Given the description of an element on the screen output the (x, y) to click on. 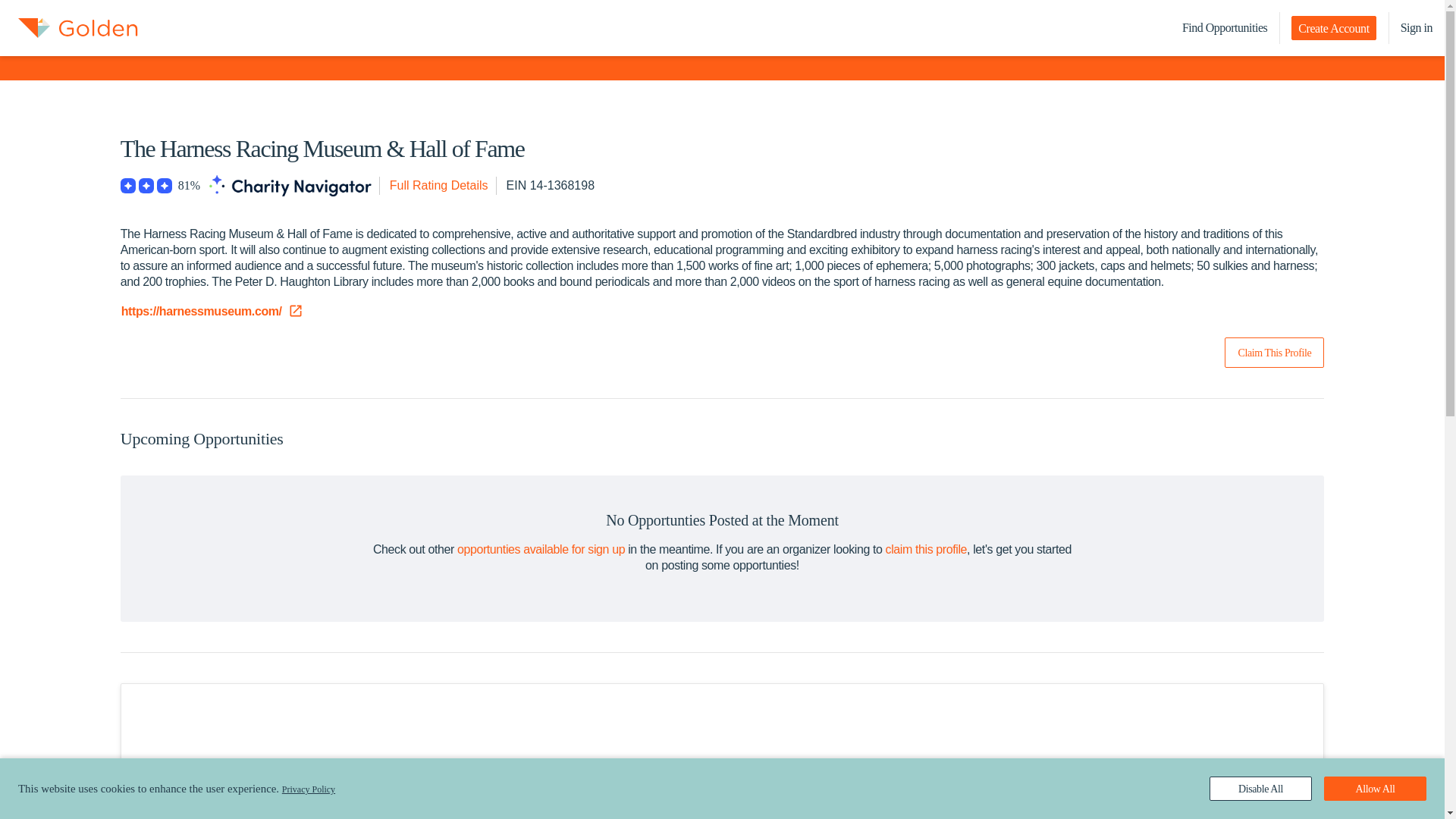
Privacy Policy (308, 788)
Claim This Profile (1273, 352)
opportunties available for sign up (540, 549)
Create Account (1333, 27)
Allow All (1374, 788)
Disable All (1260, 788)
claim this profile (926, 549)
Find Opportunities (1224, 28)
Full Rating Details (438, 185)
